Given the description of an element on the screen output the (x, y) to click on. 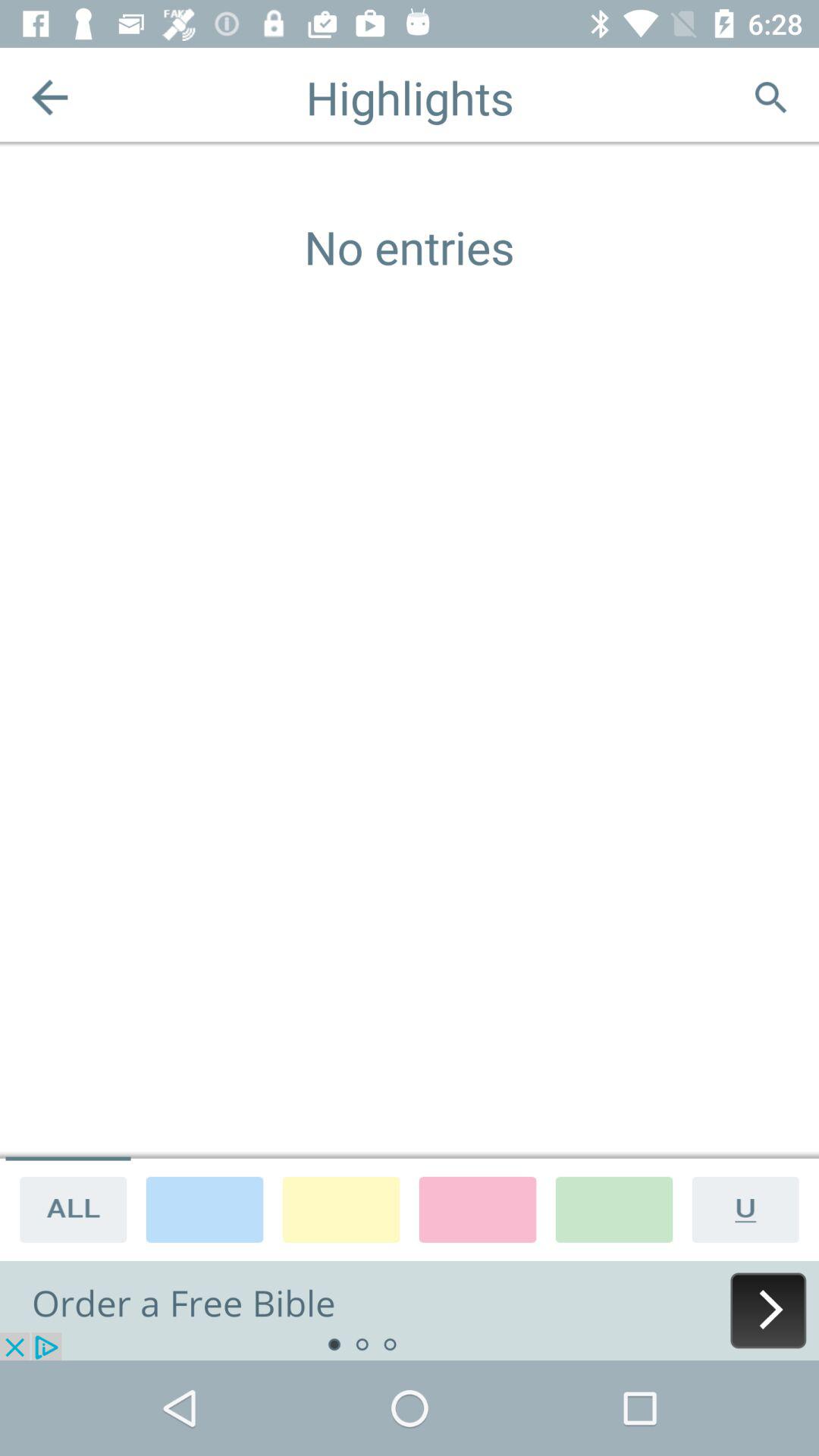
underline text (750, 1208)
